Given the description of an element on the screen output the (x, y) to click on. 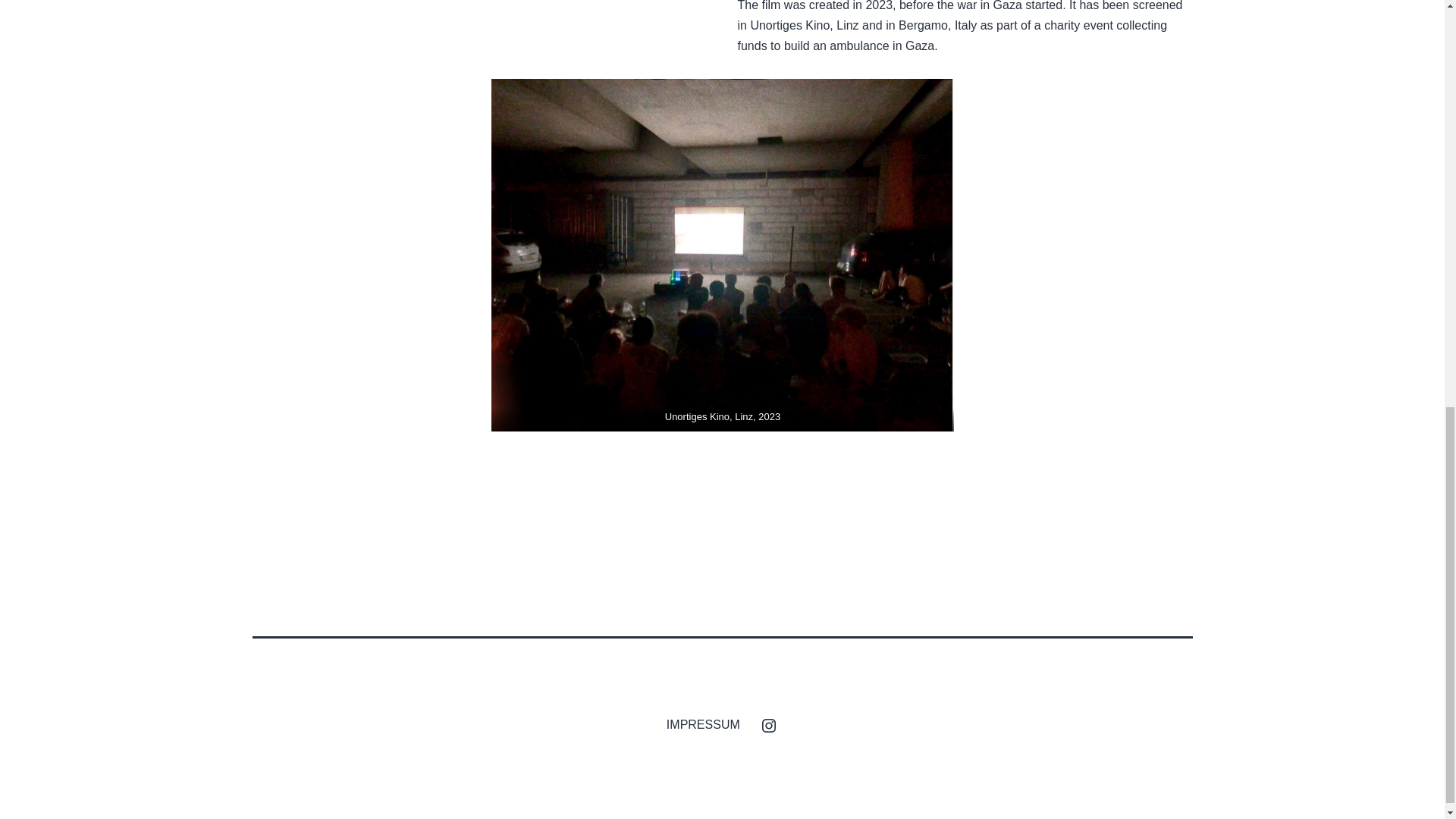
IMPRESSUM (702, 723)
instagram (768, 723)
